Given the description of an element on the screen output the (x, y) to click on. 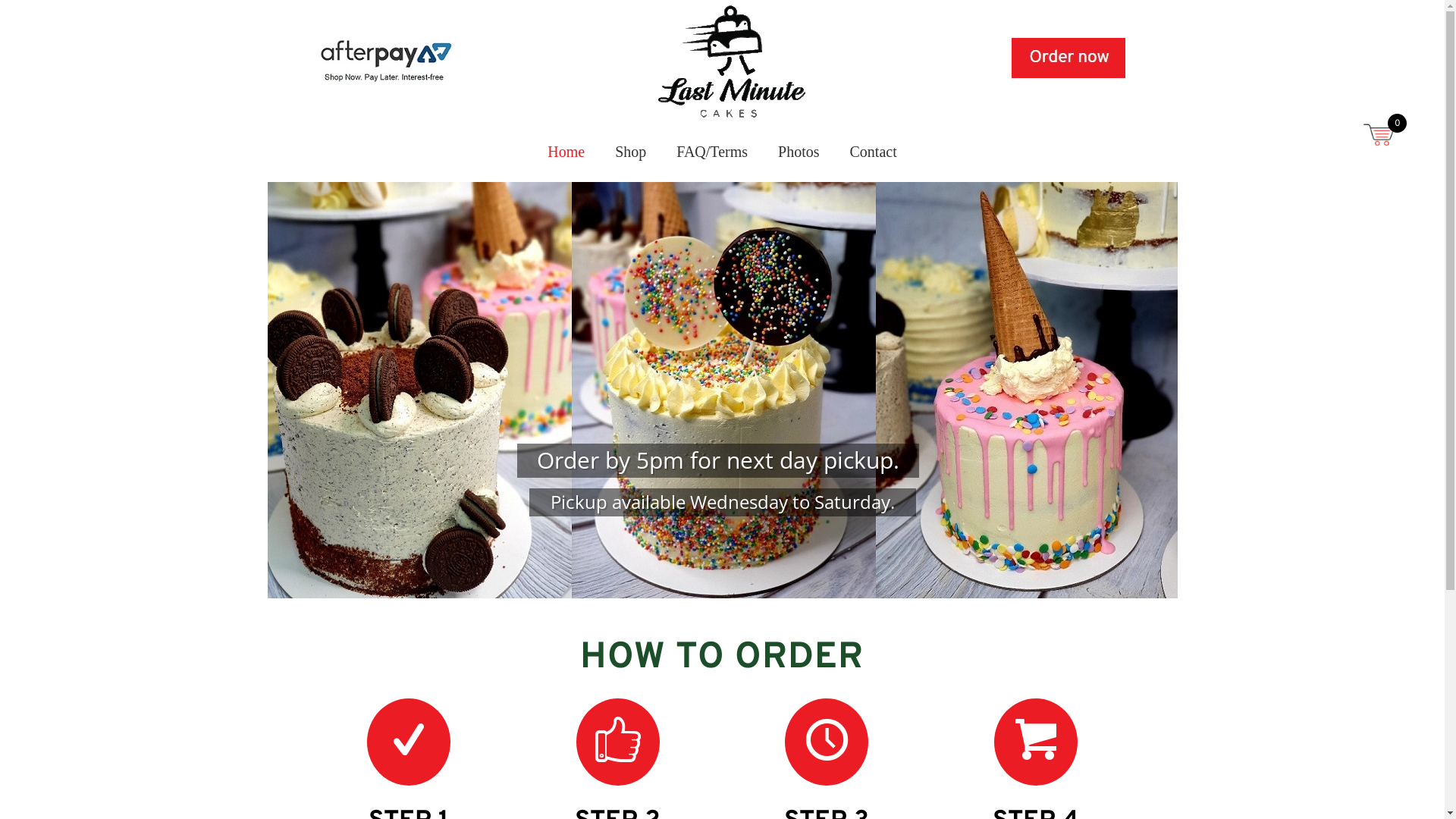
Photos Element type: text (798, 151)
Contact Element type: text (873, 151)
FAQ/Terms Element type: text (711, 151)
0 Element type: text (1380, 135)
Home Element type: text (565, 151)
Shop Element type: text (630, 151)
